Given the description of an element on the screen output the (x, y) to click on. 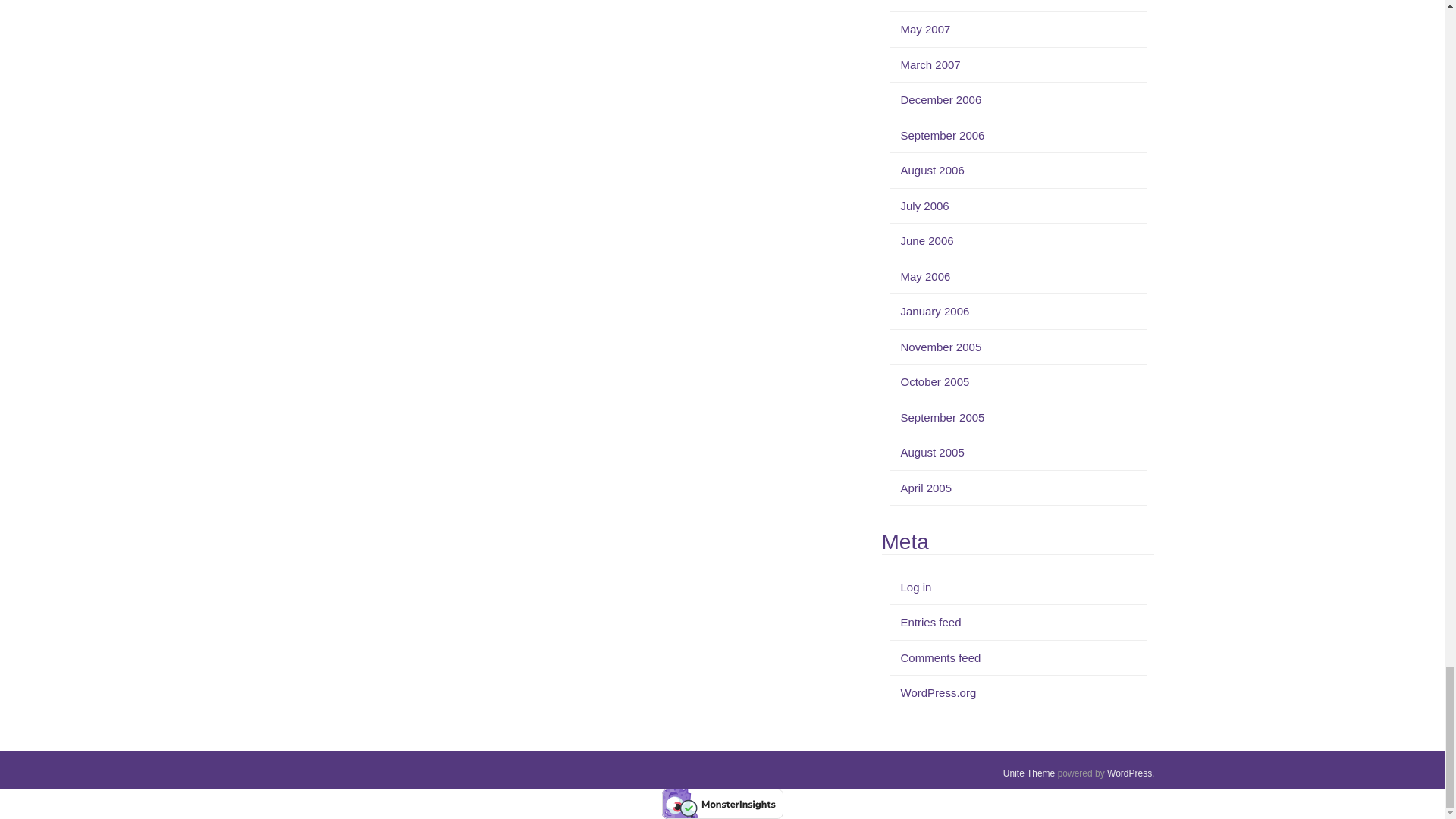
Unite Theme (1028, 773)
WordPress (1128, 773)
